Given the description of an element on the screen output the (x, y) to click on. 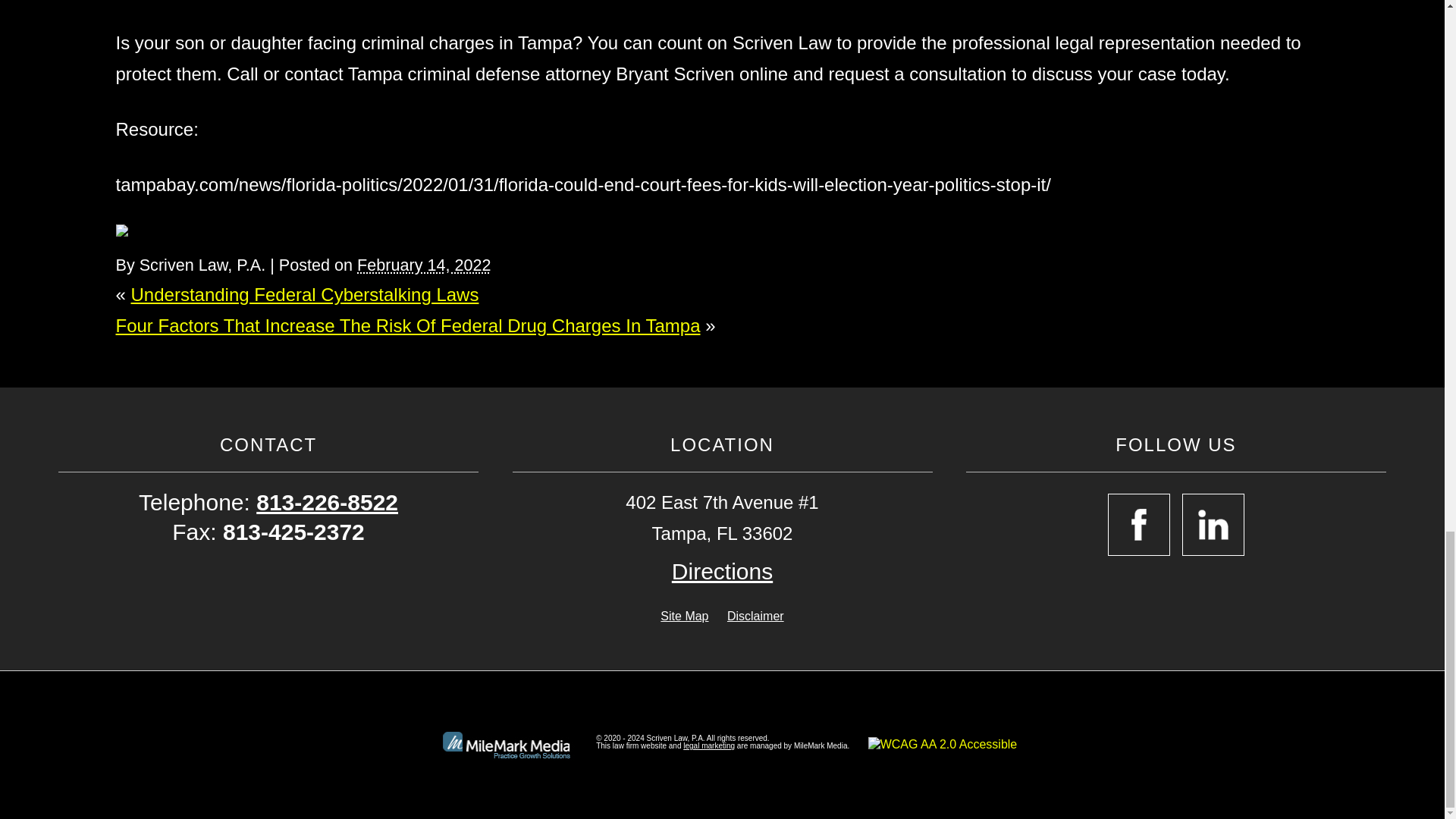
Open Facebook in a New Window (1139, 524)
Facebook (121, 230)
Twitter (131, 230)
Open MileMarkMedia.com in a New Window (708, 746)
Open Linkedin in a New Window (1213, 524)
LinkedIn (142, 230)
2022-02-14T12:49:57-0800 (423, 264)
Open Google Map in a New Window (722, 571)
